Given the description of an element on the screen output the (x, y) to click on. 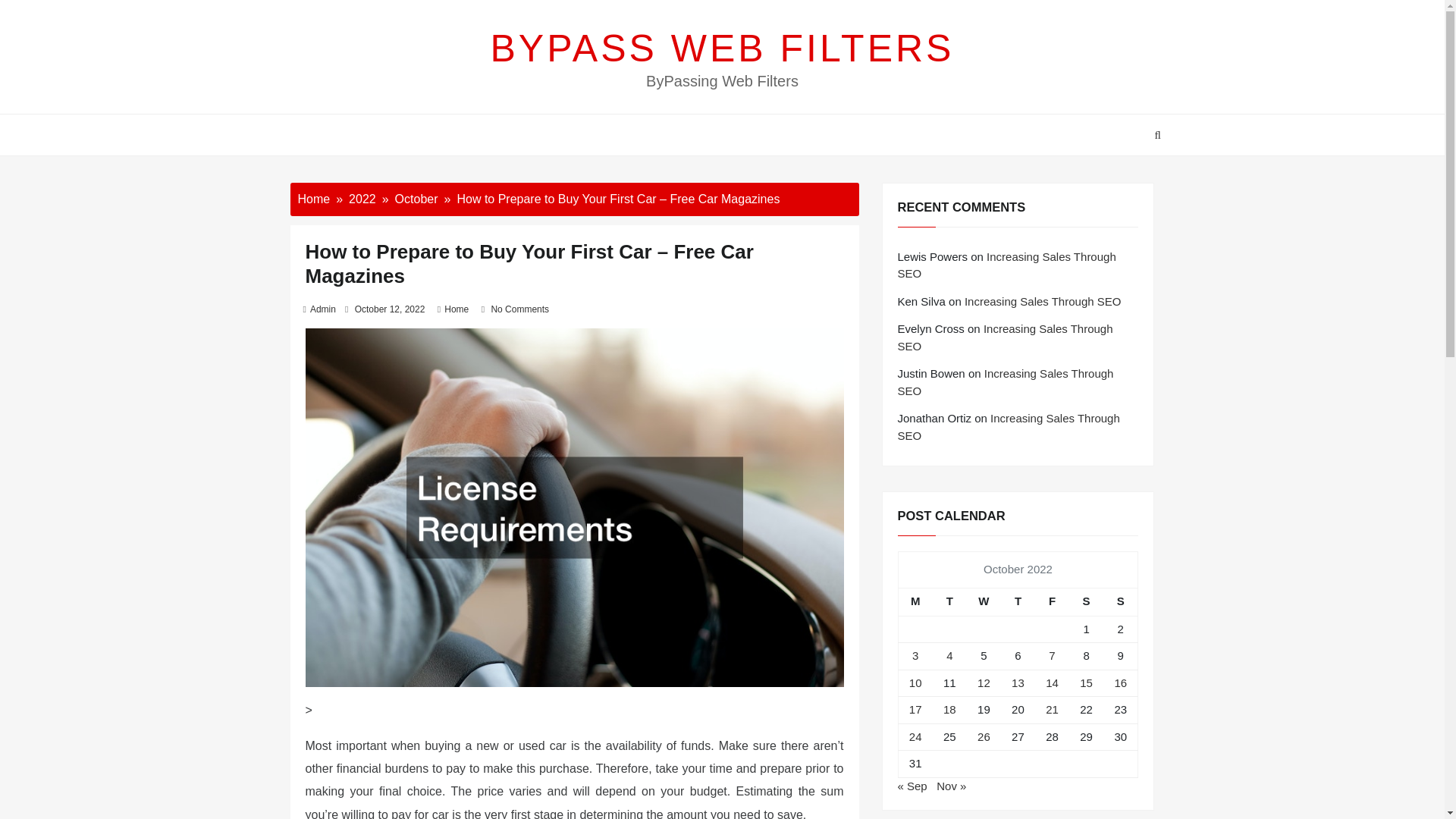
October (416, 198)
Thursday (1018, 601)
Wednesday (983, 601)
Increasing Sales Through SEO (1042, 300)
Increasing Sales Through SEO (1005, 381)
BYPASS WEB FILTERS (722, 48)
Sunday (1120, 601)
13 (1018, 682)
No Comments (519, 308)
10 (914, 682)
Increasing Sales Through SEO (1007, 265)
Saturday (1085, 601)
14 (1051, 682)
2022 (362, 198)
Home (313, 198)
